Given the description of an element on the screen output the (x, y) to click on. 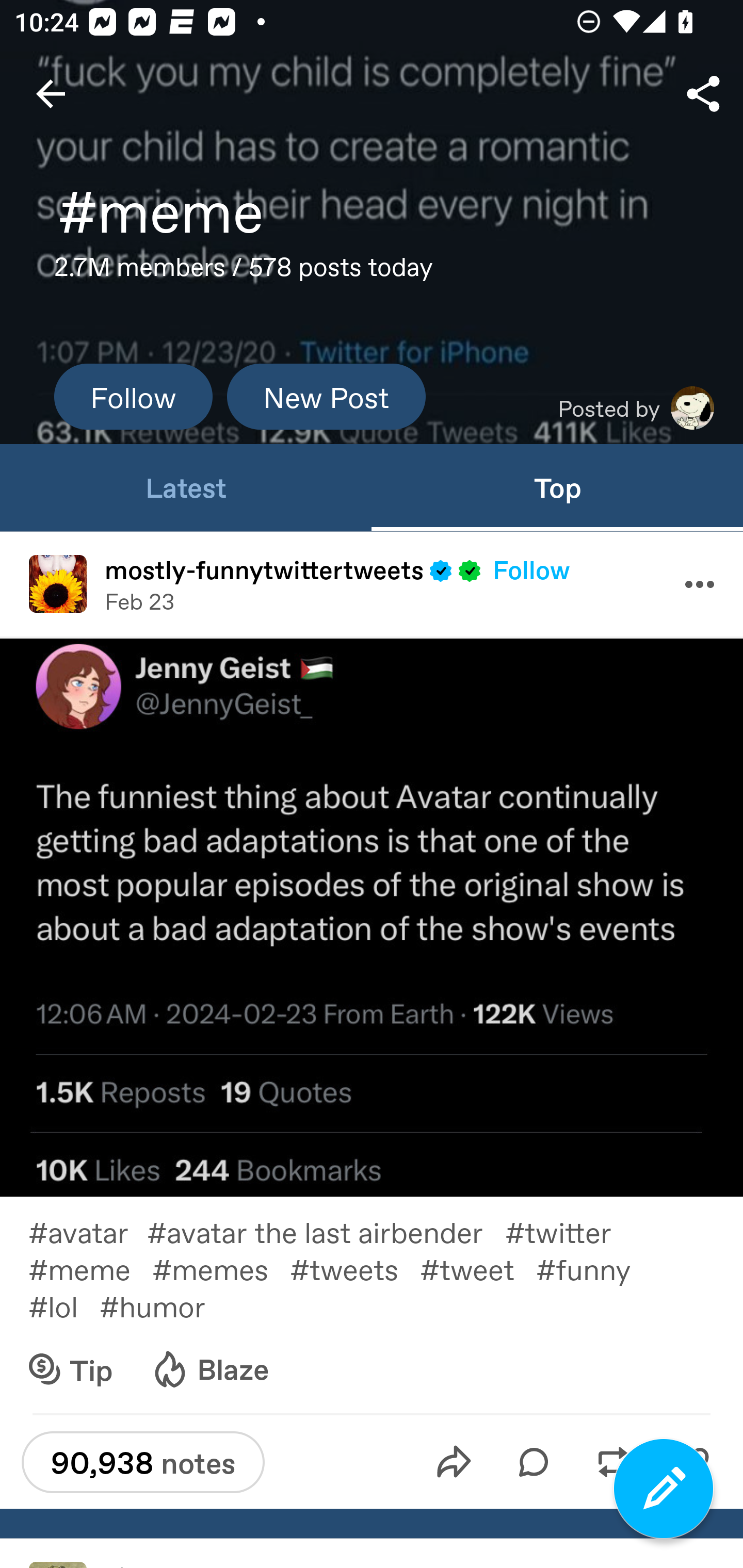
Navigate up (50, 93)
2.7M members /  578 posts today (243, 272)
Follow (133, 396)
New Post (326, 396)
Latest (185, 486)
Follow (530, 569)
#avatar (87, 1231)
#avatar the last airbender (326, 1231)
#twitter (569, 1231)
#meme (90, 1268)
#memes (220, 1268)
#tweets (354, 1268)
#tweet (477, 1268)
#funny (594, 1268)
#lol (63, 1305)
#humor (166, 1305)
Tip (71, 1369)
Blaze Blaze Blaze (209, 1369)
Share post to message (454, 1461)
Reply (533, 1461)
90,938 notes (142, 1461)
Compose a new post (663, 1488)
